Given the description of an element on the screen output the (x, y) to click on. 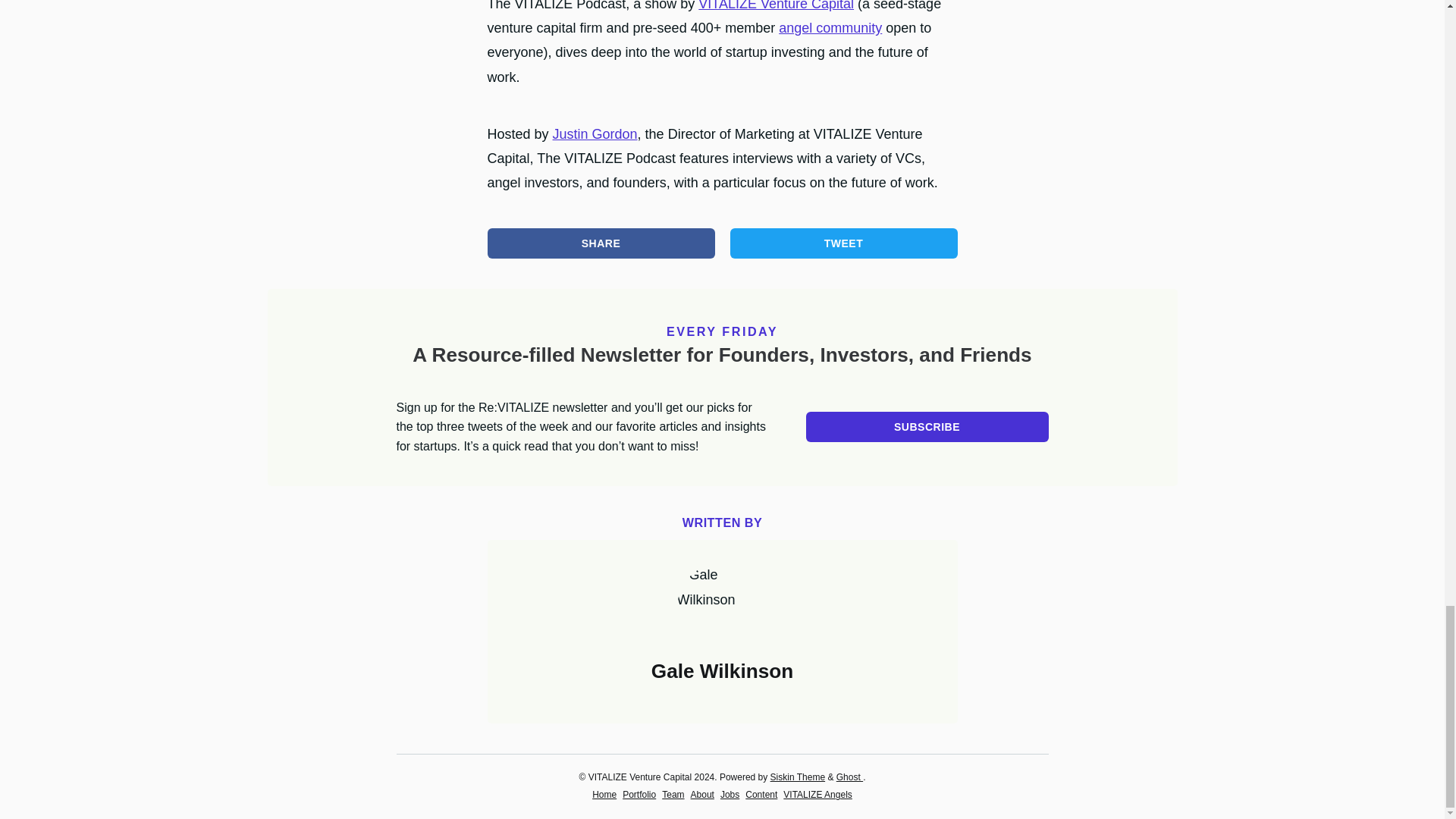
Jobs (729, 794)
Portfolio (639, 794)
Justin Gordon (595, 133)
SUBSCRIBE (926, 426)
SHARE (600, 243)
About (702, 794)
Home (603, 794)
VITALIZE Angels (817, 794)
Content (761, 794)
TWEET (844, 243)
Ghost (849, 777)
Team (673, 794)
VITALIZE Venture Capital (775, 5)
angel community (830, 28)
Siskin Theme (797, 777)
